Given the description of an element on the screen output the (x, y) to click on. 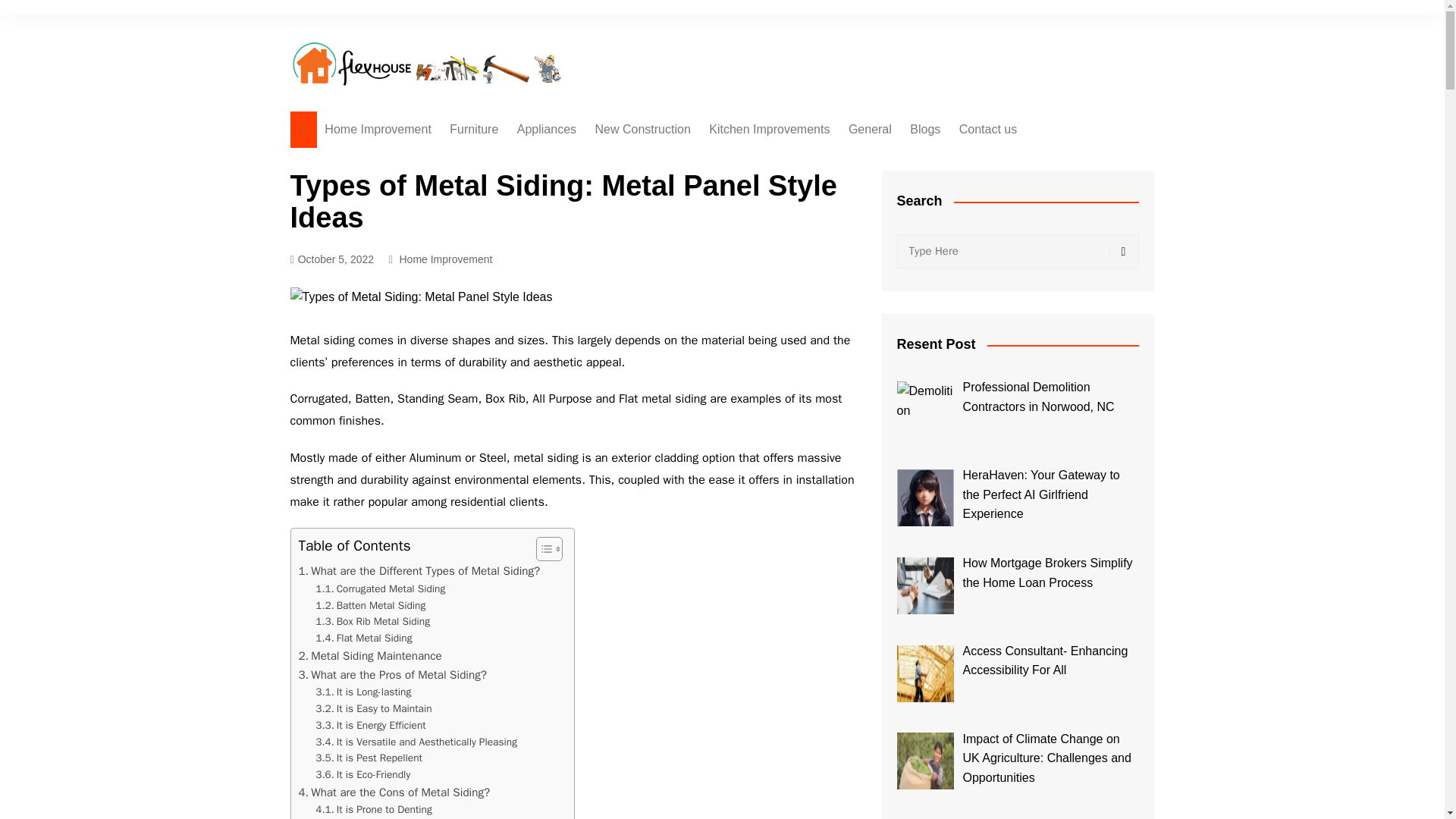
It is Easy to Maintain (372, 709)
What are the Different Types of Metal Siding? (419, 570)
It is Versatile and Aesthetically Pleasing (415, 742)
Home Inspections (671, 160)
Interior Design and Decorating (525, 166)
Moving (671, 298)
Bath and Shower (593, 197)
Types of Metal Siding: Metal Panel Style Ideas (420, 297)
It is Energy Efficient (370, 725)
Pest Control (924, 160)
Garage (671, 222)
What are the Pros of Metal Siding? (392, 674)
Metal Siding Maintenance (370, 656)
Appliances (546, 129)
Flat Metal Siding (363, 638)
